Given the description of an element on the screen output the (x, y) to click on. 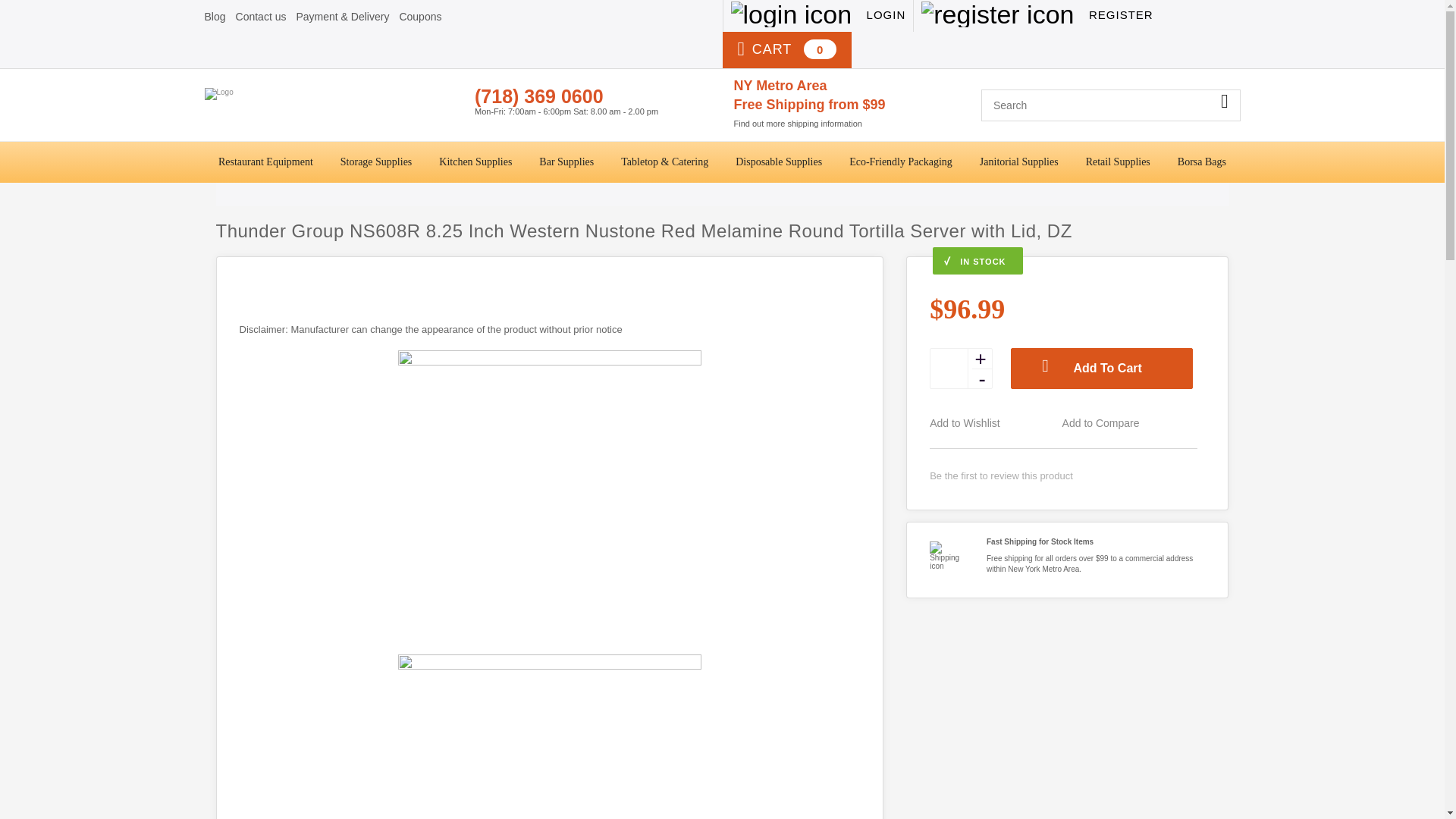
Availability (1063, 260)
Storage Supplies (376, 161)
LOGIN (817, 15)
Logo (334, 105)
Add to Compare (1126, 422)
Add to Wish List (994, 422)
Contact us (260, 16)
REGISTER (1036, 15)
Blog (215, 16)
Add To Cart (1101, 368)
